Given the description of an element on the screen output the (x, y) to click on. 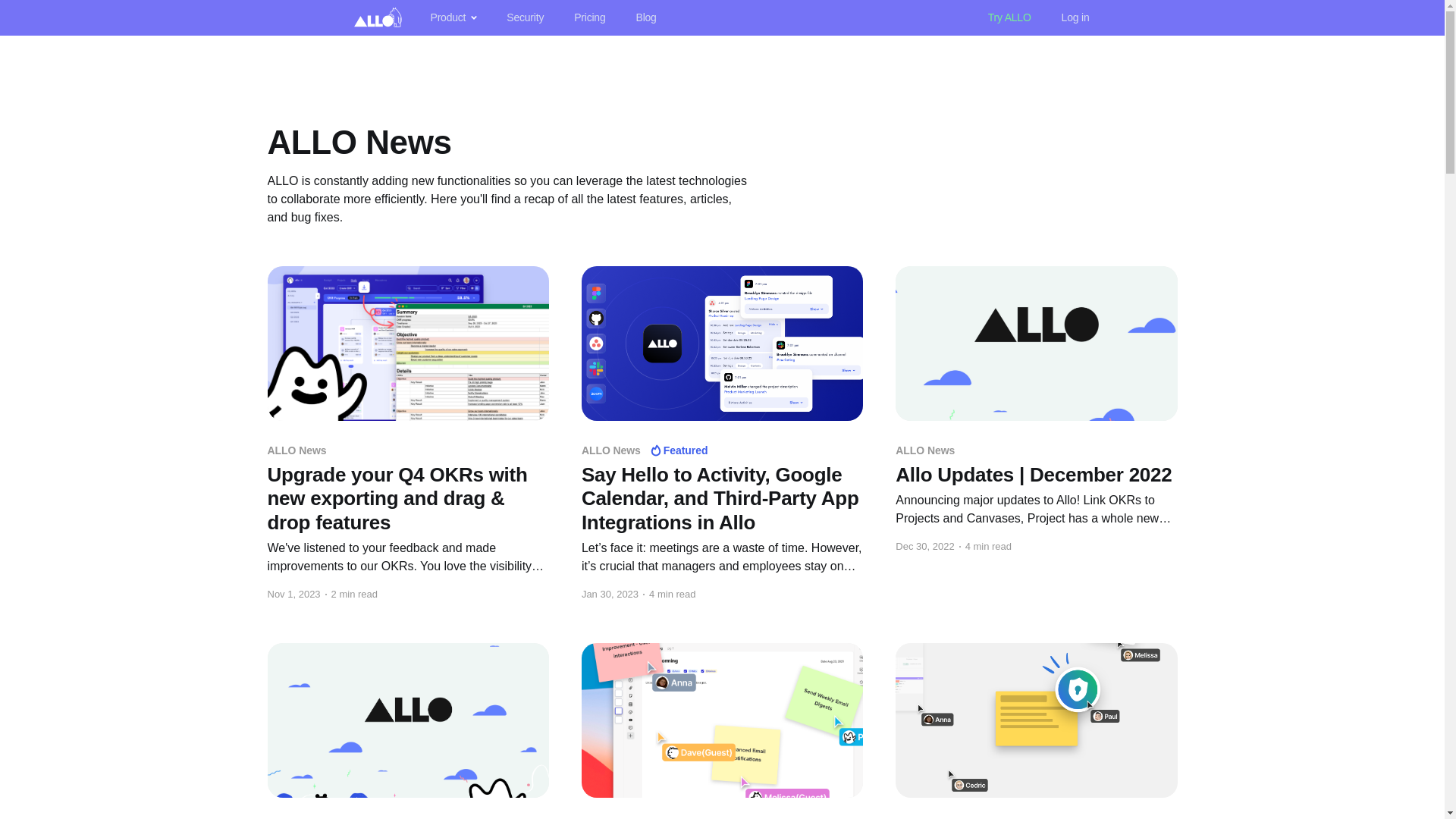
Try ALLO (1009, 17)
Log in (1075, 17)
Pricing (589, 17)
Blog (646, 17)
Security (525, 17)
Product (441, 17)
